Given the description of an element on the screen output the (x, y) to click on. 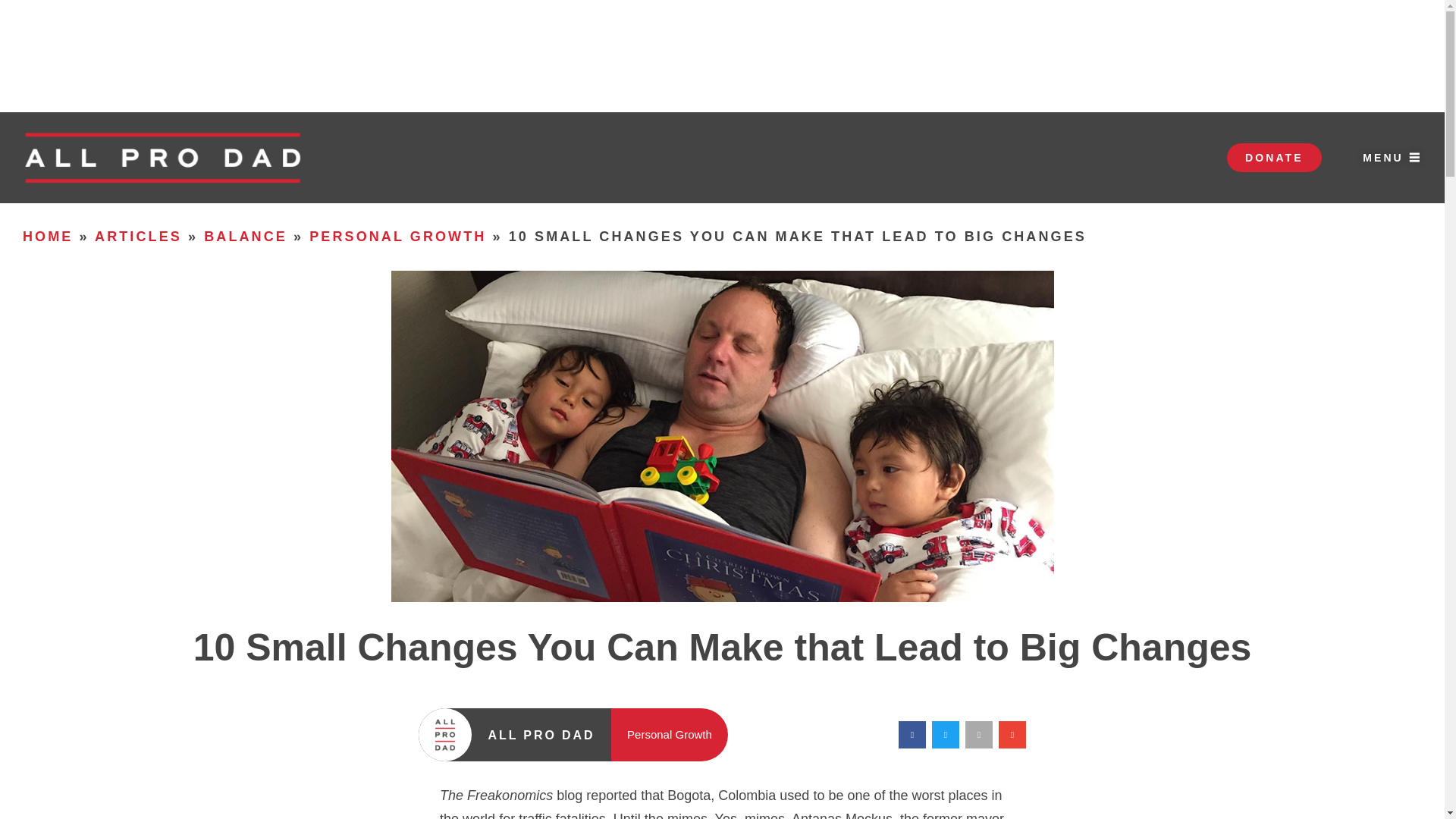
Personal Growth (669, 734)
3rd party ad content (721, 56)
ARTICLES (138, 236)
PERSONAL GROWTH (397, 236)
DONATE (1274, 157)
ALL PRO DAD (541, 734)
BALANCE (244, 236)
HOME (47, 236)
